Given the description of an element on the screen output the (x, y) to click on. 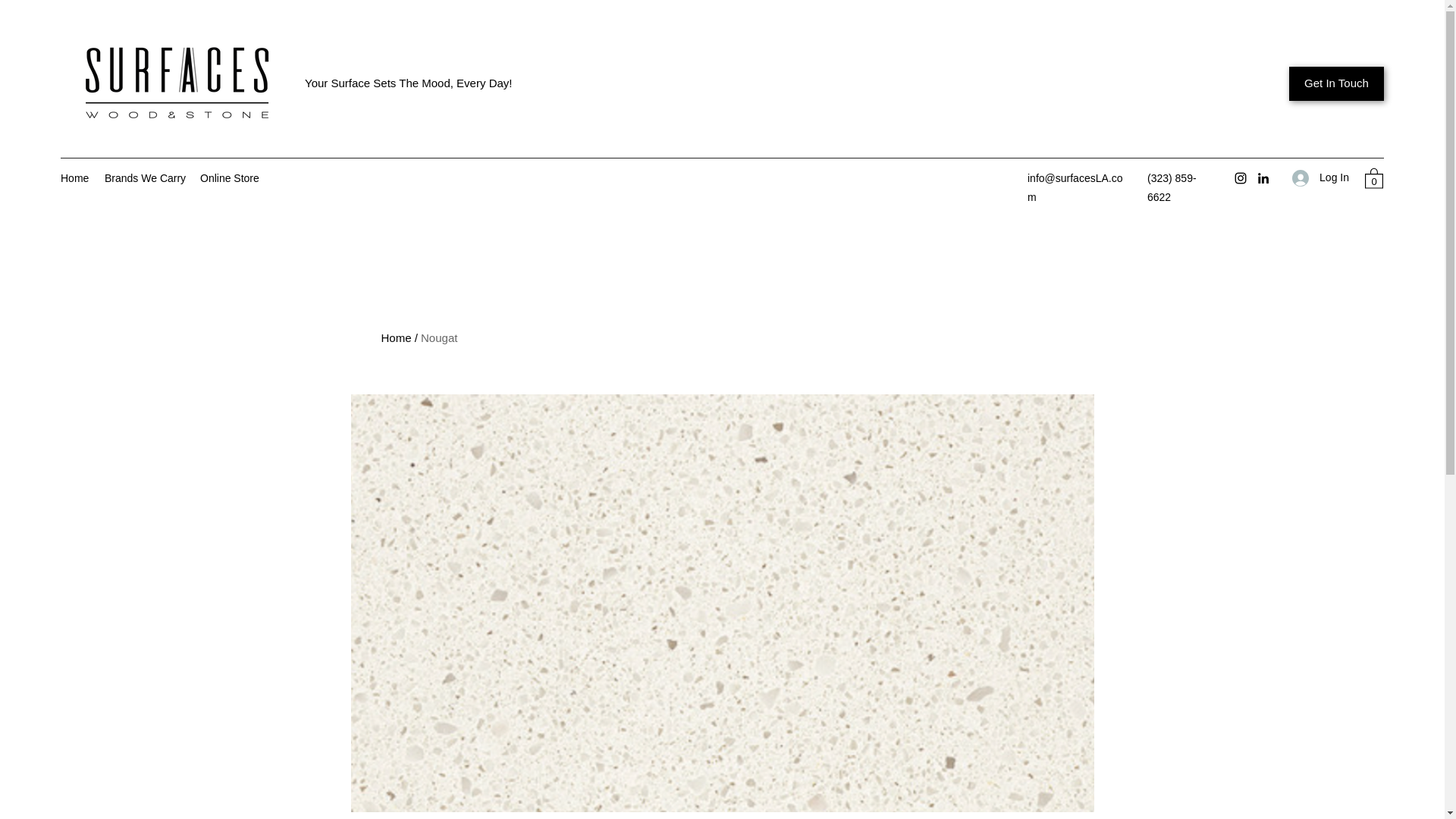
Log In (1320, 177)
Home (74, 178)
Nougat (438, 337)
Online Store (229, 178)
Brands We Carry (144, 178)
Home (395, 337)
Get In Touch (1336, 83)
